Given the description of an element on the screen output the (x, y) to click on. 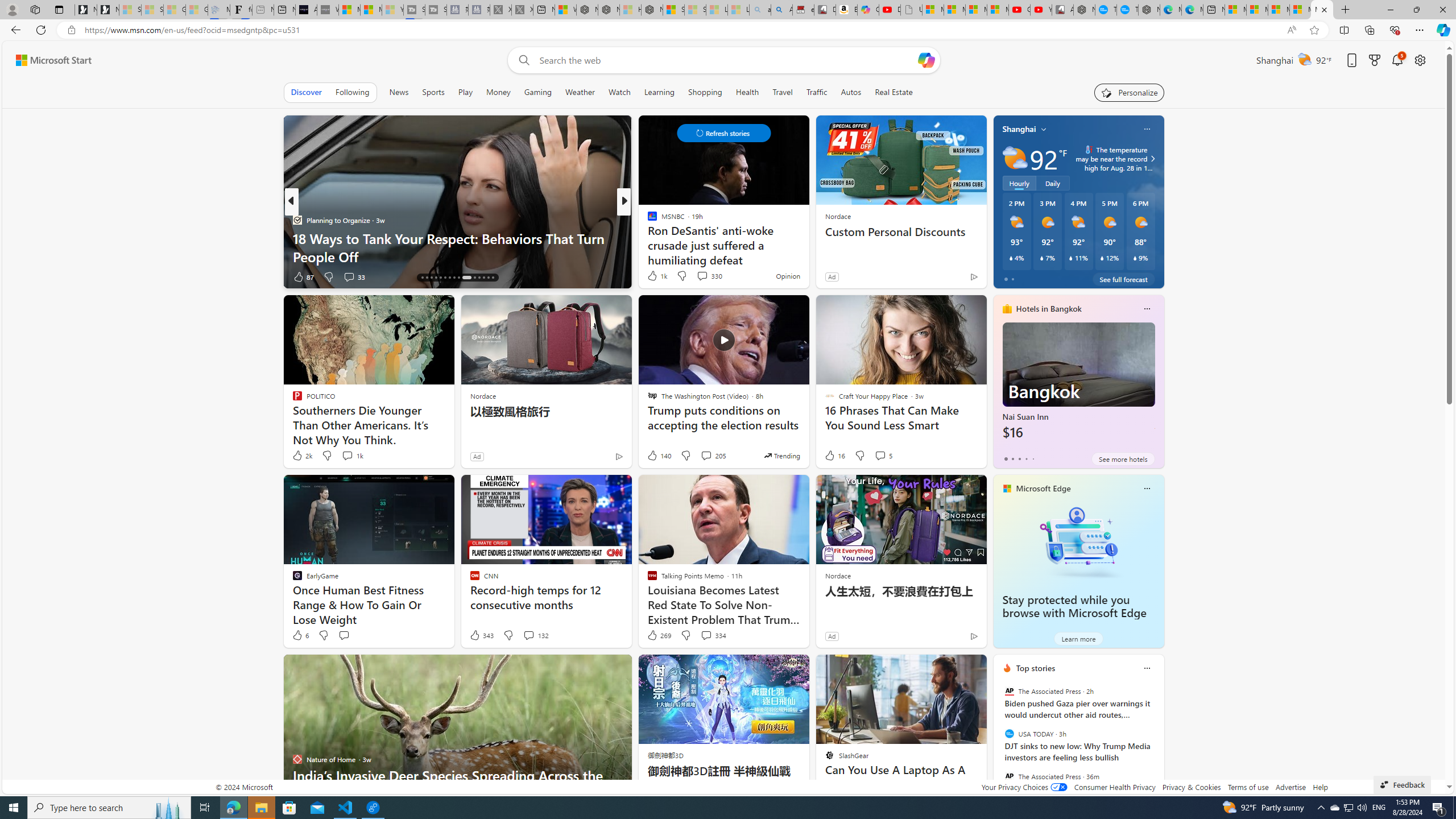
Learn more (1078, 638)
269 Like (658, 634)
Nordace - Nordace has arrived Hong Kong (1149, 9)
View comments 33 Comment (349, 276)
Traffic (816, 92)
Play (465, 92)
Enter your search term (726, 59)
Microsoft Start (53, 60)
181 Like (654, 276)
Learning (659, 92)
Microsoft account | Microsoft Account Privacy Settings (1256, 9)
More options (1146, 668)
Help (1320, 786)
Workspaces (34, 9)
